Given the description of an element on the screen output the (x, y) to click on. 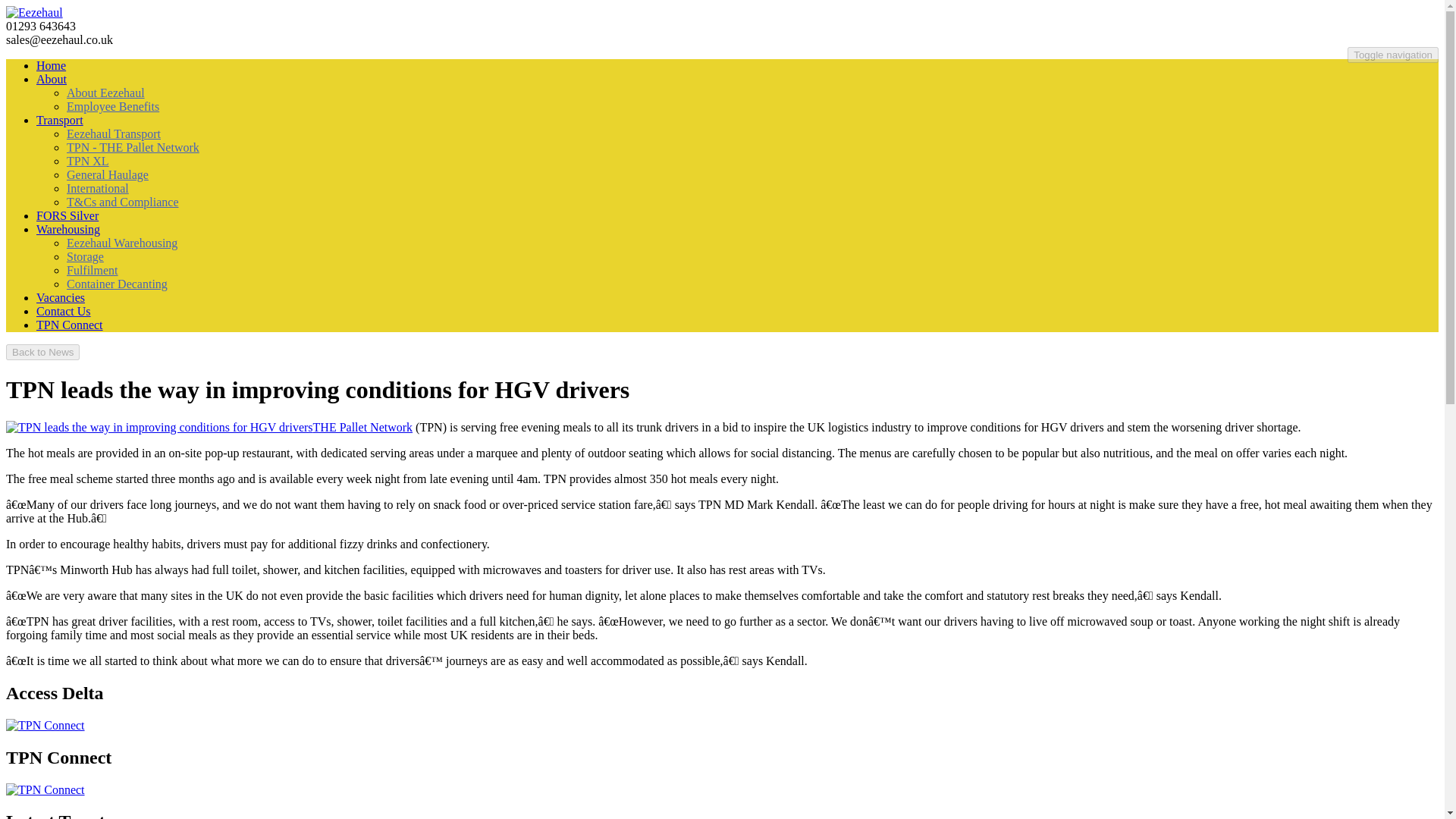
Fulfilment (91, 269)
Eezehaul Warehousing (121, 242)
FORS Silver (67, 215)
TPN XL (87, 160)
Container Decanting (116, 283)
General Haulage (107, 174)
Employee Benefits (112, 106)
TPN - THE Pallet Network (132, 146)
Home (50, 65)
About Eezehaul (105, 92)
Contact Us (63, 310)
Eezehaul Transport (113, 133)
About (51, 78)
International (97, 187)
Storage (84, 256)
